Given the description of an element on the screen output the (x, y) to click on. 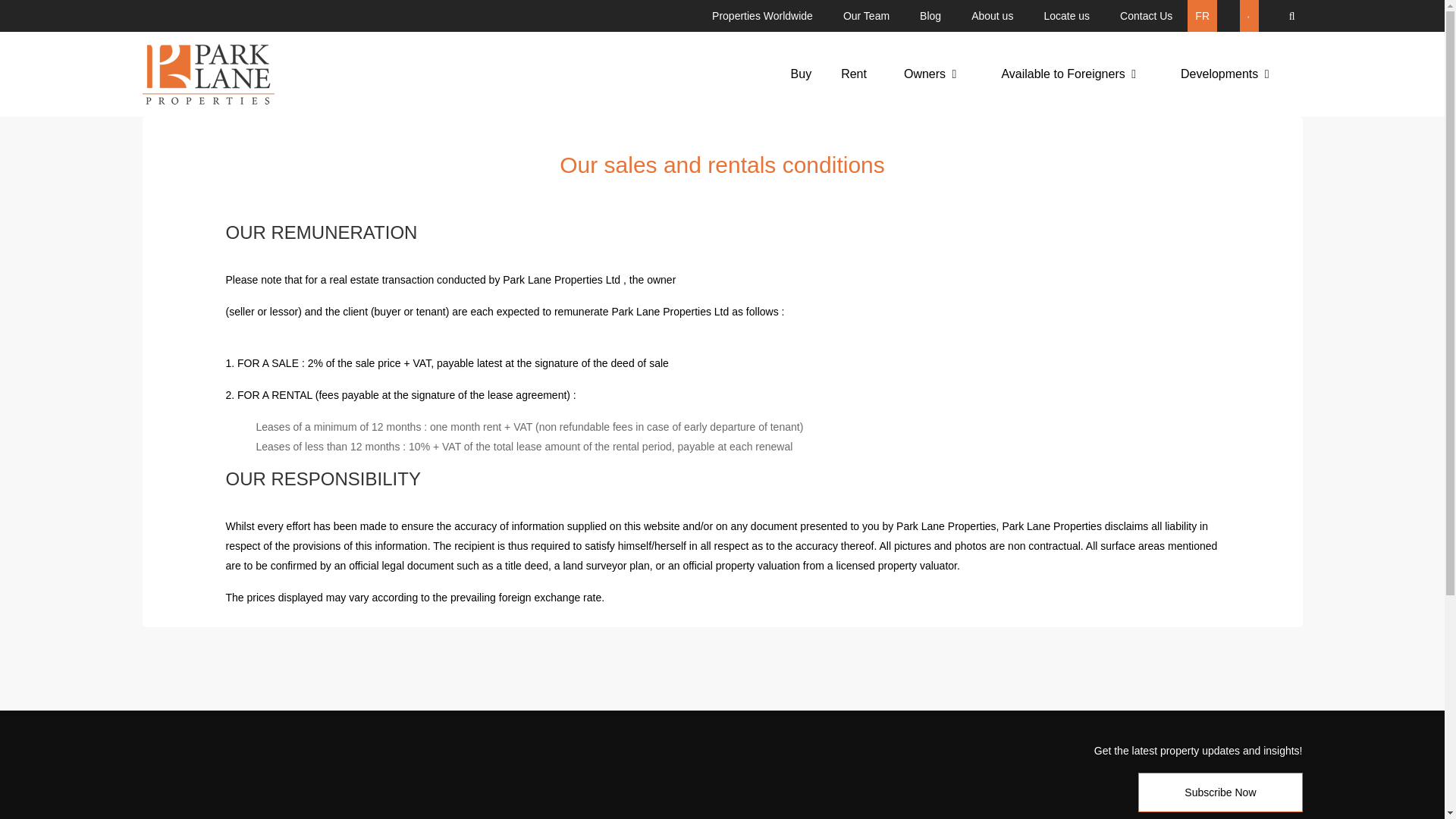
Subscribe Now (1219, 792)
FR (1202, 15)
Available to Foreigners (1068, 74)
Rent (853, 74)
About us (991, 15)
Buy (801, 74)
Developments (1224, 74)
Properties Worldwide (762, 15)
Our Team (866, 15)
Owners (930, 74)
Contact Us (1146, 15)
Locate us (1066, 15)
Blog (930, 15)
